Given the description of an element on the screen output the (x, y) to click on. 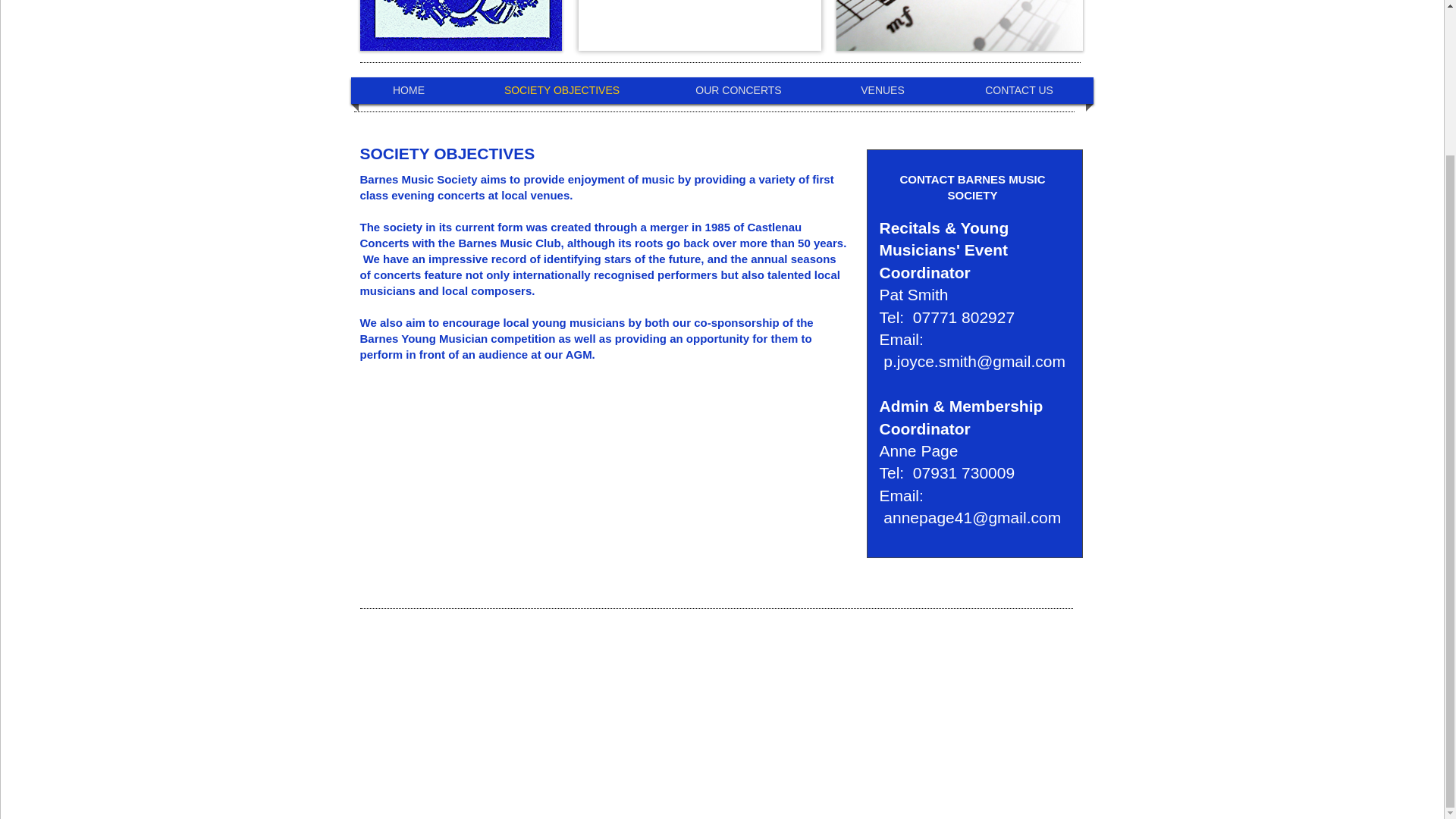
CONTACT US (1019, 90)
OUR CONCERTS (738, 90)
SOCIETY OBJECTIVES (561, 90)
musicpaper.png (958, 25)
HOME (409, 90)
VENUES (882, 90)
